Given the description of an element on the screen output the (x, y) to click on. 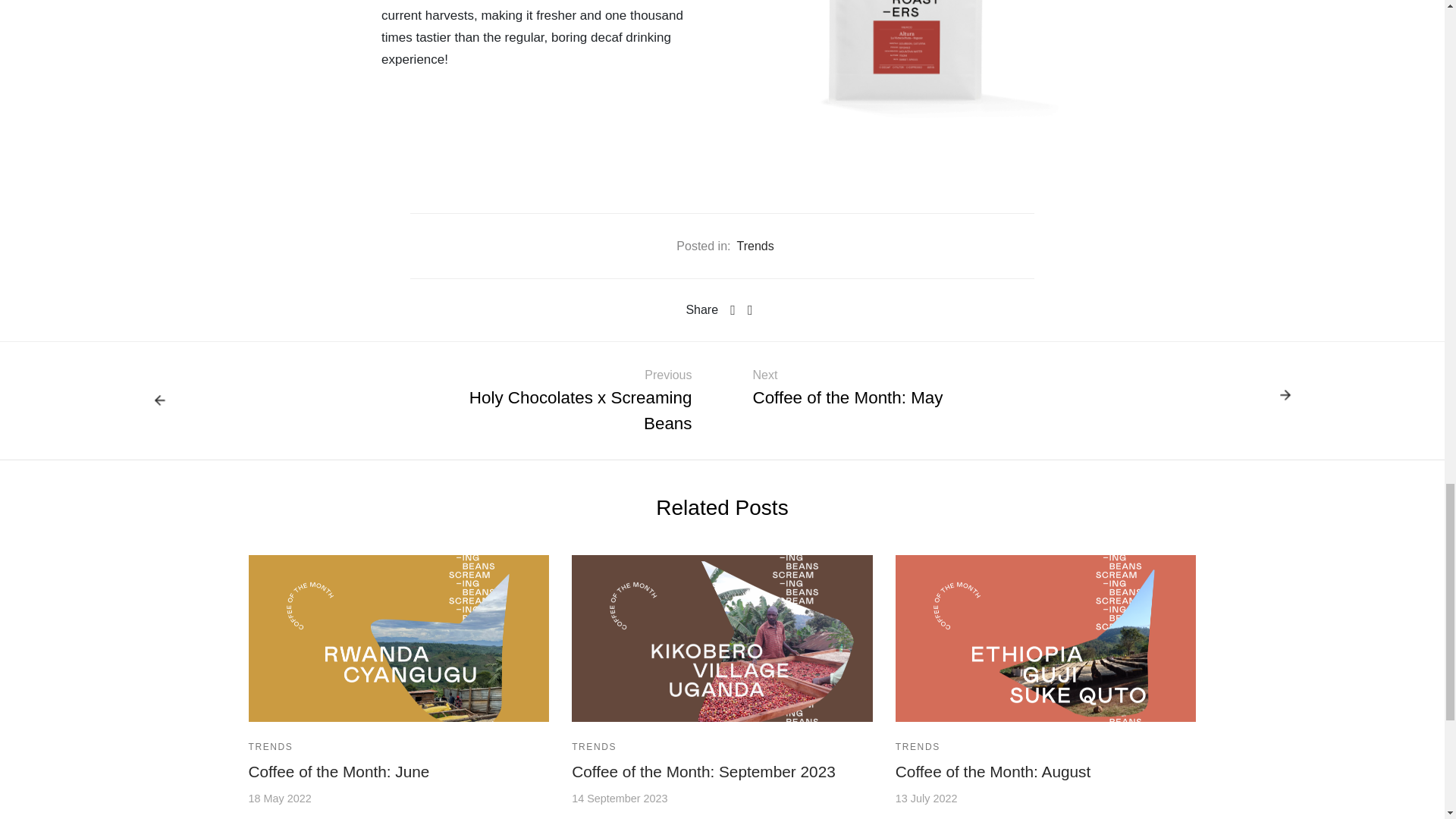
Coffee of the Month: June (338, 771)
Coffee of the Month: June (399, 638)
Coffee of the Month: June (338, 771)
14 September 2023 (619, 798)
Coffee of the Month: August (992, 771)
Coffee of the Month: August (1045, 638)
TRENDS (271, 746)
TRENDS (917, 746)
Coffee of the Month: September 2023 (703, 771)
18 May 2022 (279, 798)
Coffee of the Month: September 2023 (703, 771)
13 July 2022 (926, 798)
Trends (754, 245)
Coffee of the Month: August (992, 771)
Coffee of the Month: September 2023 (722, 638)
